Given the description of an element on the screen output the (x, y) to click on. 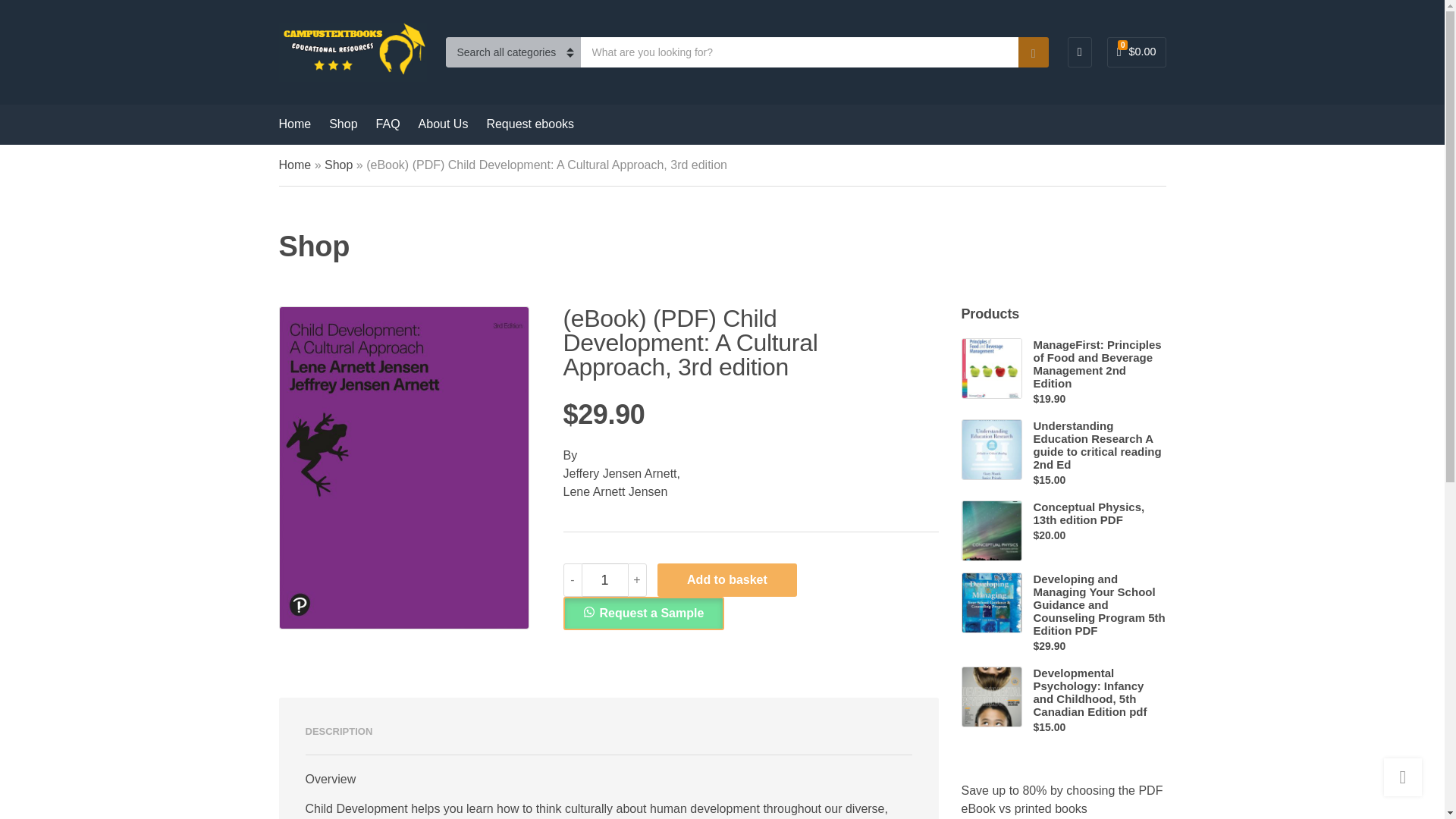
Conceptual Physics, 13th edition PDF (1099, 513)
DESCRIPTION (338, 731)
Request ebooks (529, 124)
About Us (443, 124)
Request a Sample (642, 612)
Request a Sample (642, 613)
Search (1032, 51)
Home (295, 164)
Shop (338, 164)
Add to basket (727, 580)
1 (604, 580)
